Given the description of an element on the screen output the (x, y) to click on. 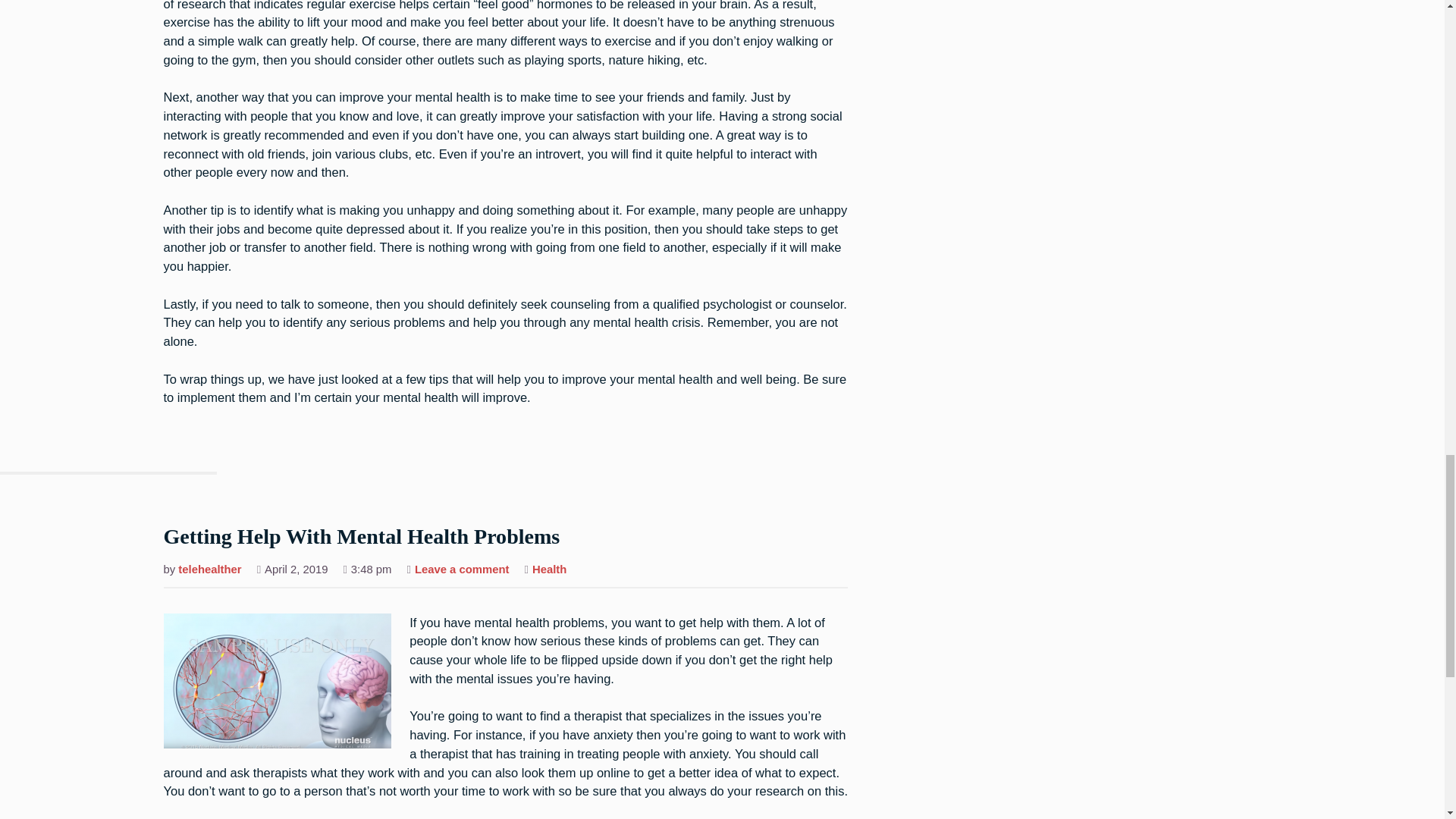
Getting Help With Mental Health Problems (361, 537)
Health (549, 570)
Posts by telehealther (461, 570)
telehealther (209, 570)
